Given the description of an element on the screen output the (x, y) to click on. 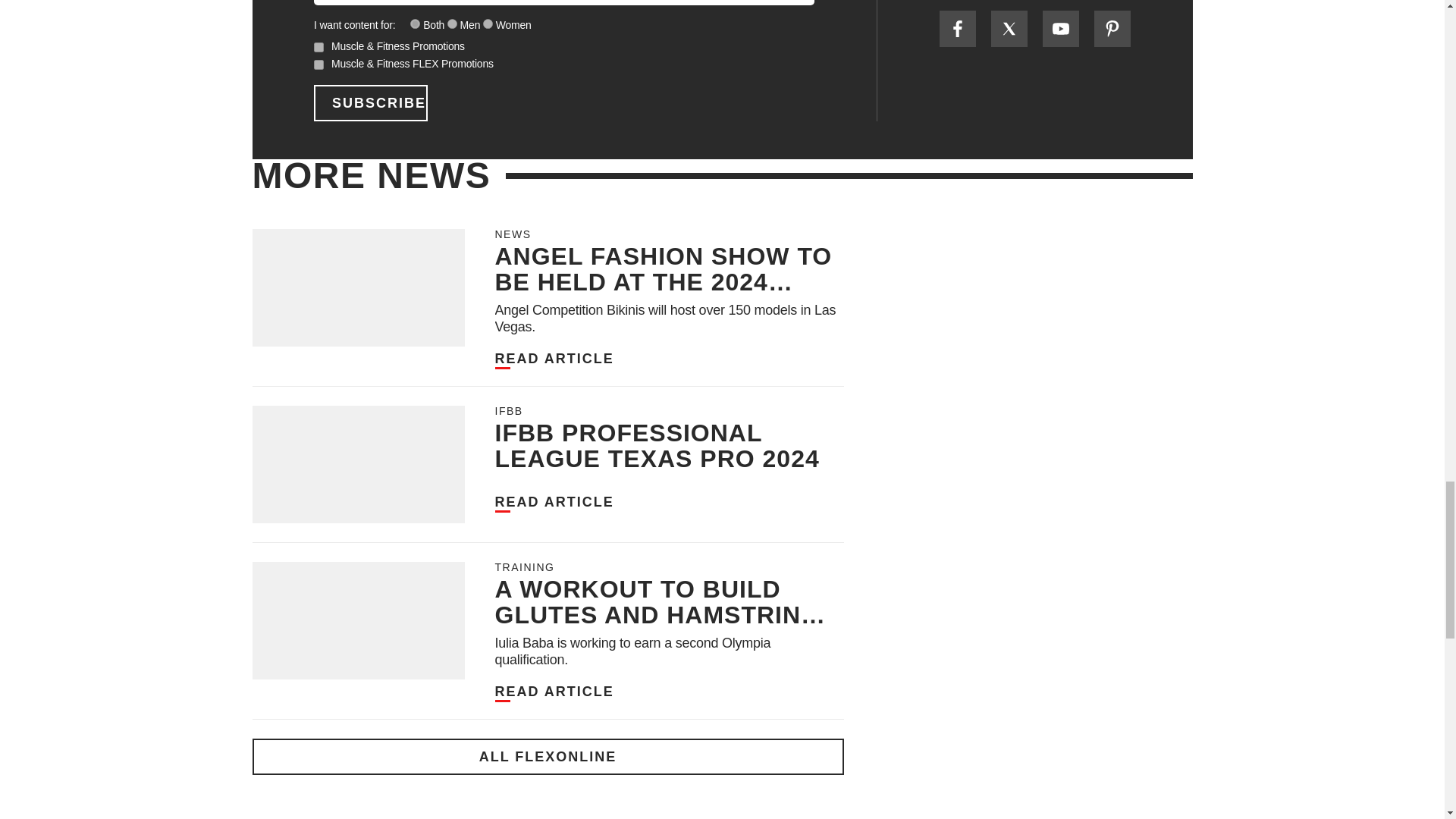
Muscle and Fitness on Twitter (1008, 28)
Muscle and Fitness on YouTube (1060, 28)
Muscle and Fitness on Facebook (957, 28)
749 (488, 23)
747 (451, 23)
745 (415, 23)
